Given the description of an element on the screen output the (x, y) to click on. 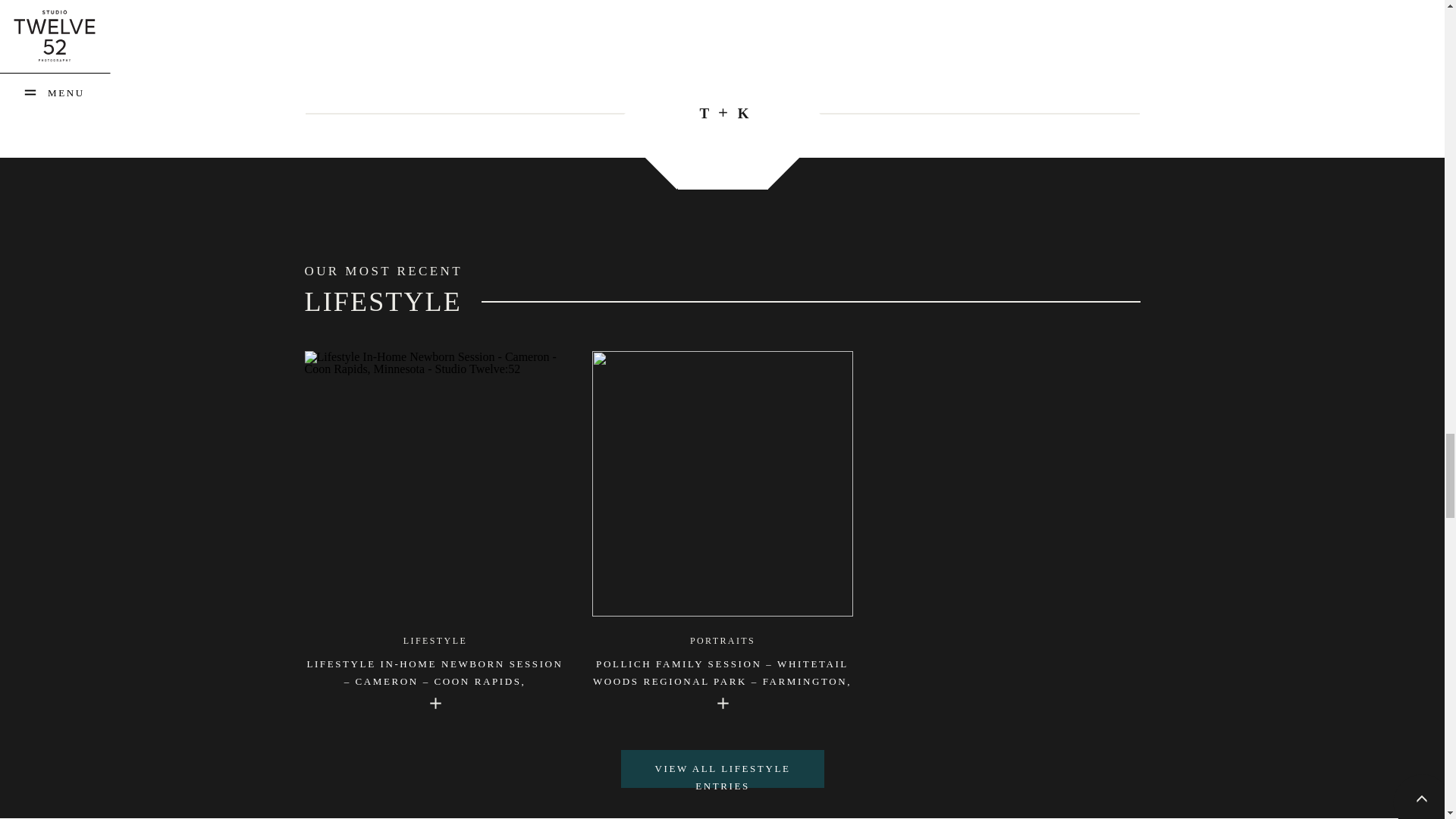
VIEW ALL LIFESTYLE ENTRIES (721, 766)
LIFESTYLE (435, 640)
PORTRAITS (722, 640)
